Given the description of an element on the screen output the (x, y) to click on. 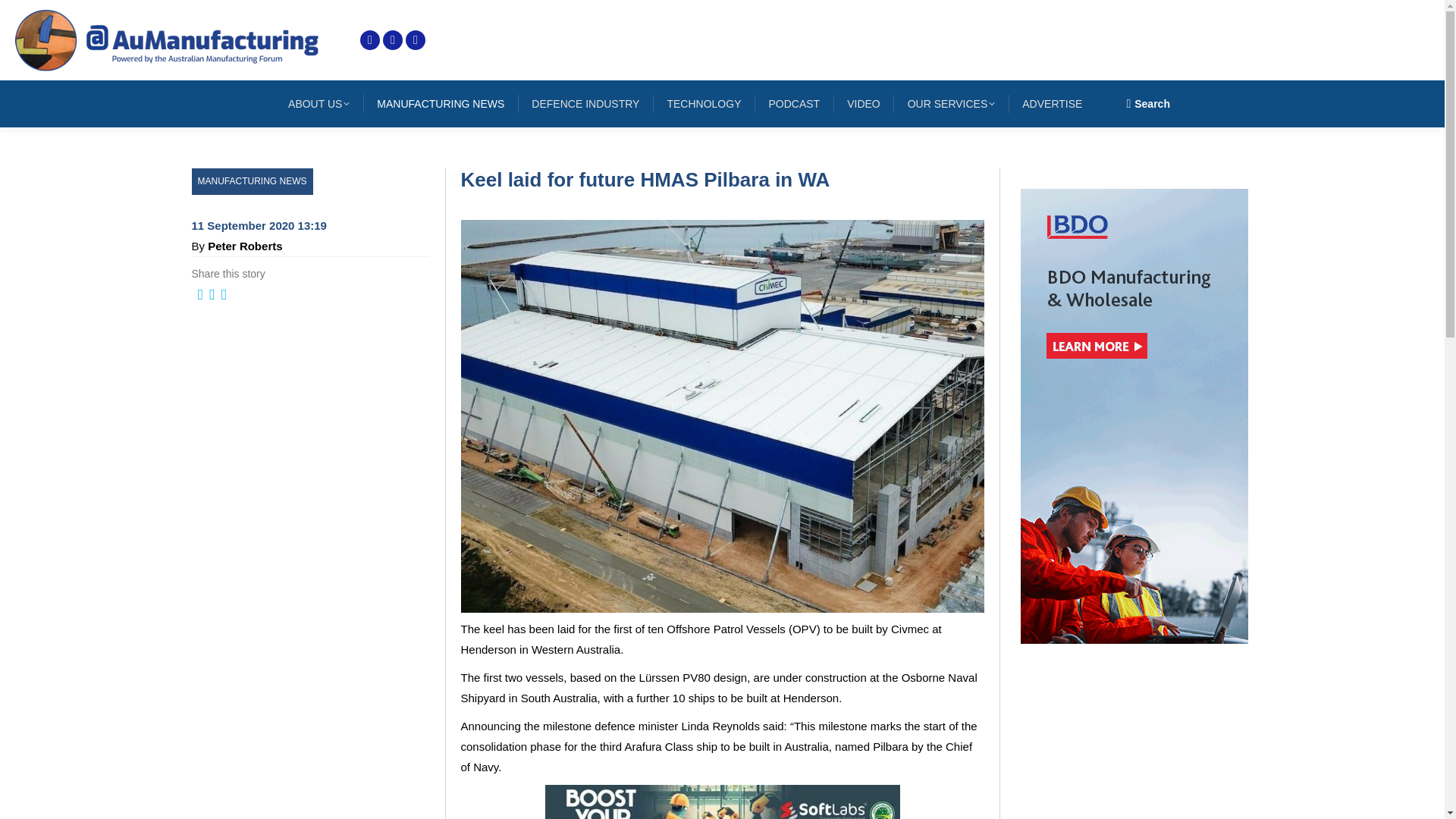
Linkedin page opens in new window (392, 39)
PODCAST (793, 103)
Search (1147, 103)
TECHNOLOGY (703, 103)
MANUFACTURING NEWS (440, 103)
YouTube page opens in new window (415, 39)
ADVERTISE (1051, 103)
X page opens in new window (369, 39)
OUR SERVICES (951, 103)
MANUFACTURING NEWS (251, 181)
YouTube page opens in new window (415, 39)
DEFENCE INDUSTRY (585, 103)
Go! (24, 16)
X page opens in new window (369, 39)
ABOUT US (318, 103)
